Given the description of an element on the screen output the (x, y) to click on. 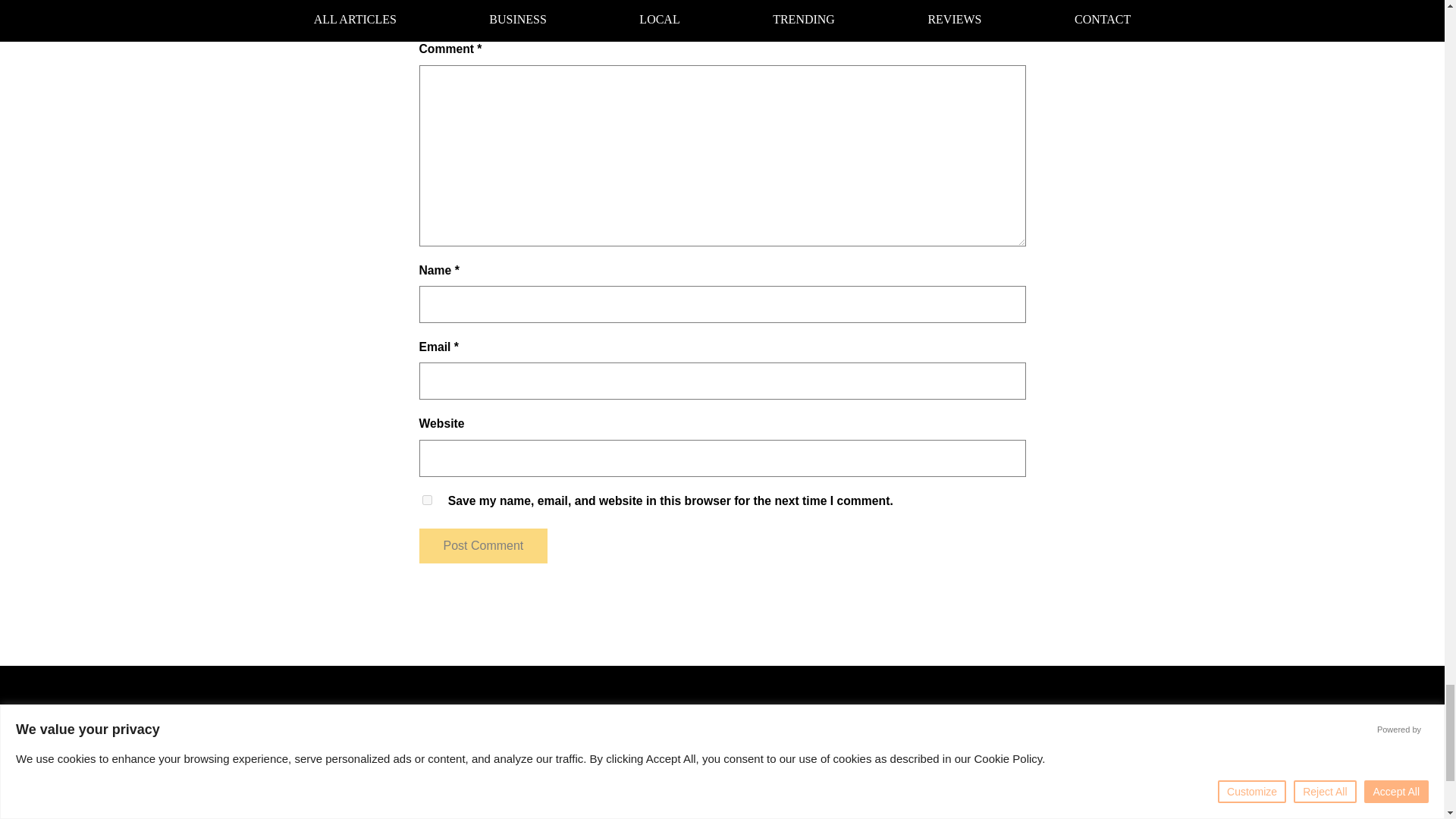
Post Comment (483, 545)
yes (426, 500)
Sign Up (1033, 807)
